Given the description of an element on the screen output the (x, y) to click on. 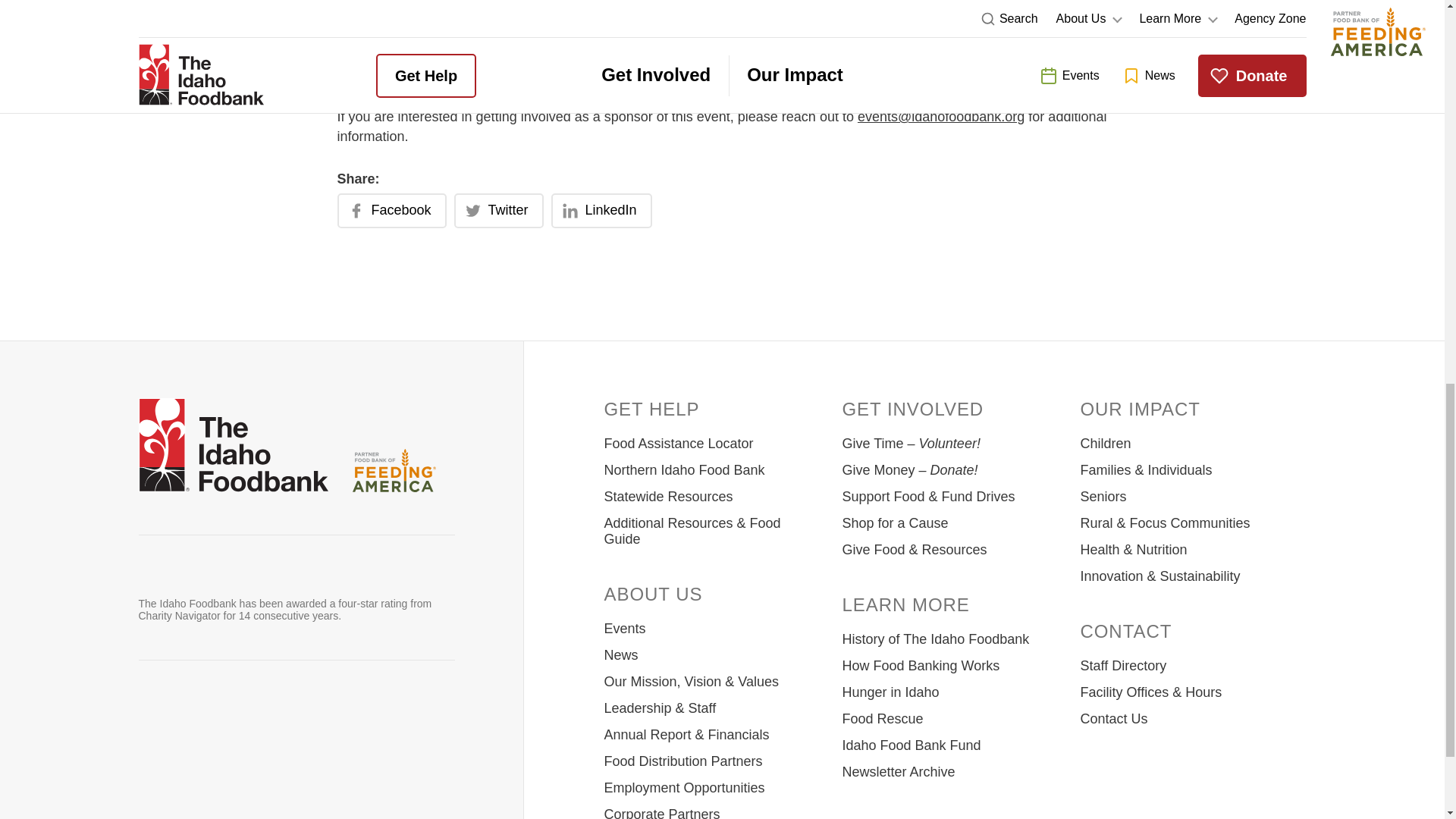
flickr (389, 713)
Share: LinkedIn (601, 210)
Share: Facebook (390, 210)
Go to Home page (232, 447)
pinterest (310, 713)
twitter (192, 713)
youtube (271, 713)
instagram (231, 713)
Share: Twitter (498, 210)
linkedin (349, 713)
